Given the description of an element on the screen output the (x, y) to click on. 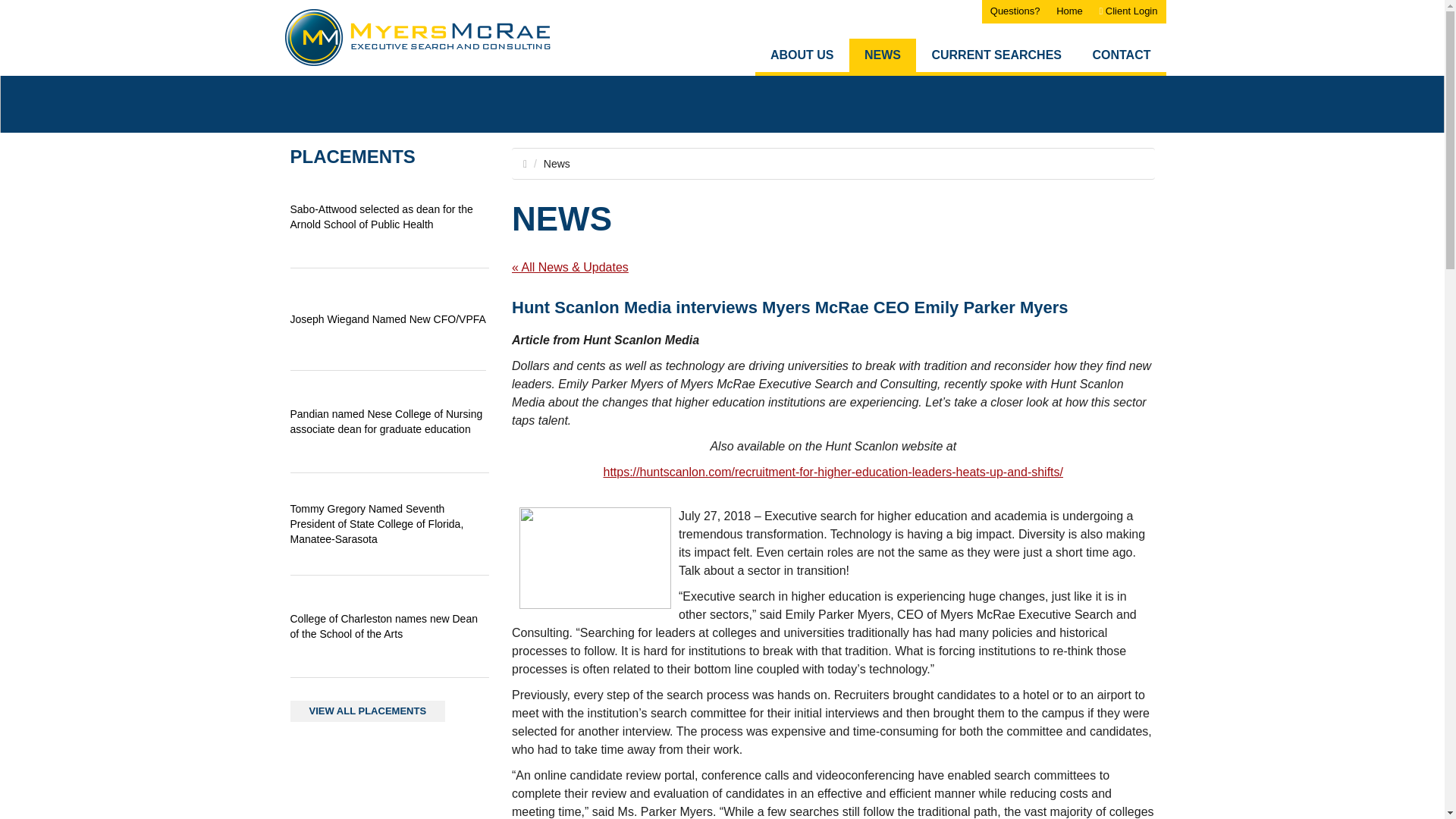
NEWS (881, 57)
Questions? (1014, 11)
Home (1069, 11)
CONTACT (1121, 57)
Client Login (1128, 11)
CURRENT SEARCHES (996, 57)
VIEW ALL PLACEMENTS (367, 710)
ABOUT US (801, 57)
